Given the description of an element on the screen output the (x, y) to click on. 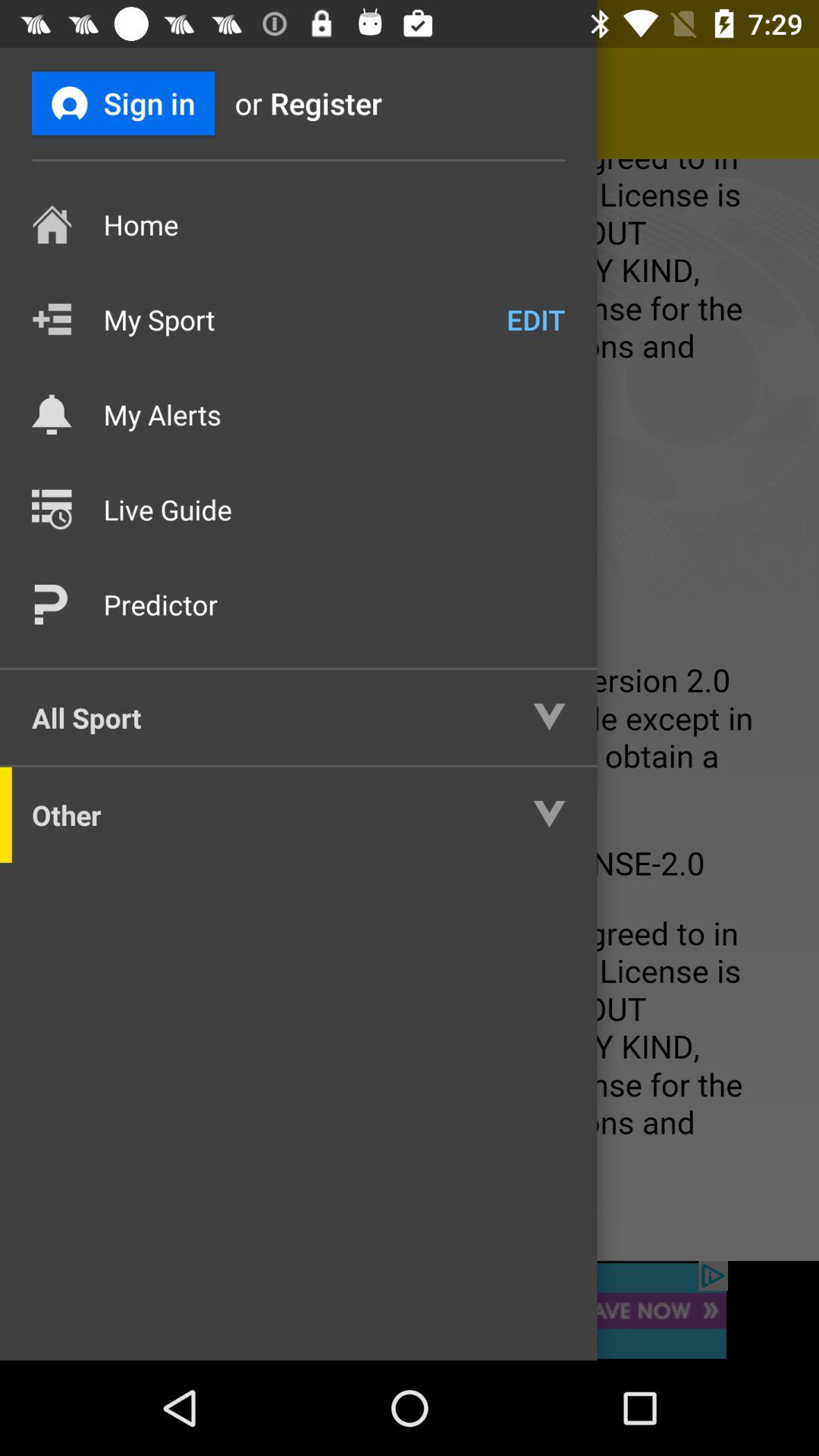
nav bar (409, 709)
